Given the description of an element on the screen output the (x, y) to click on. 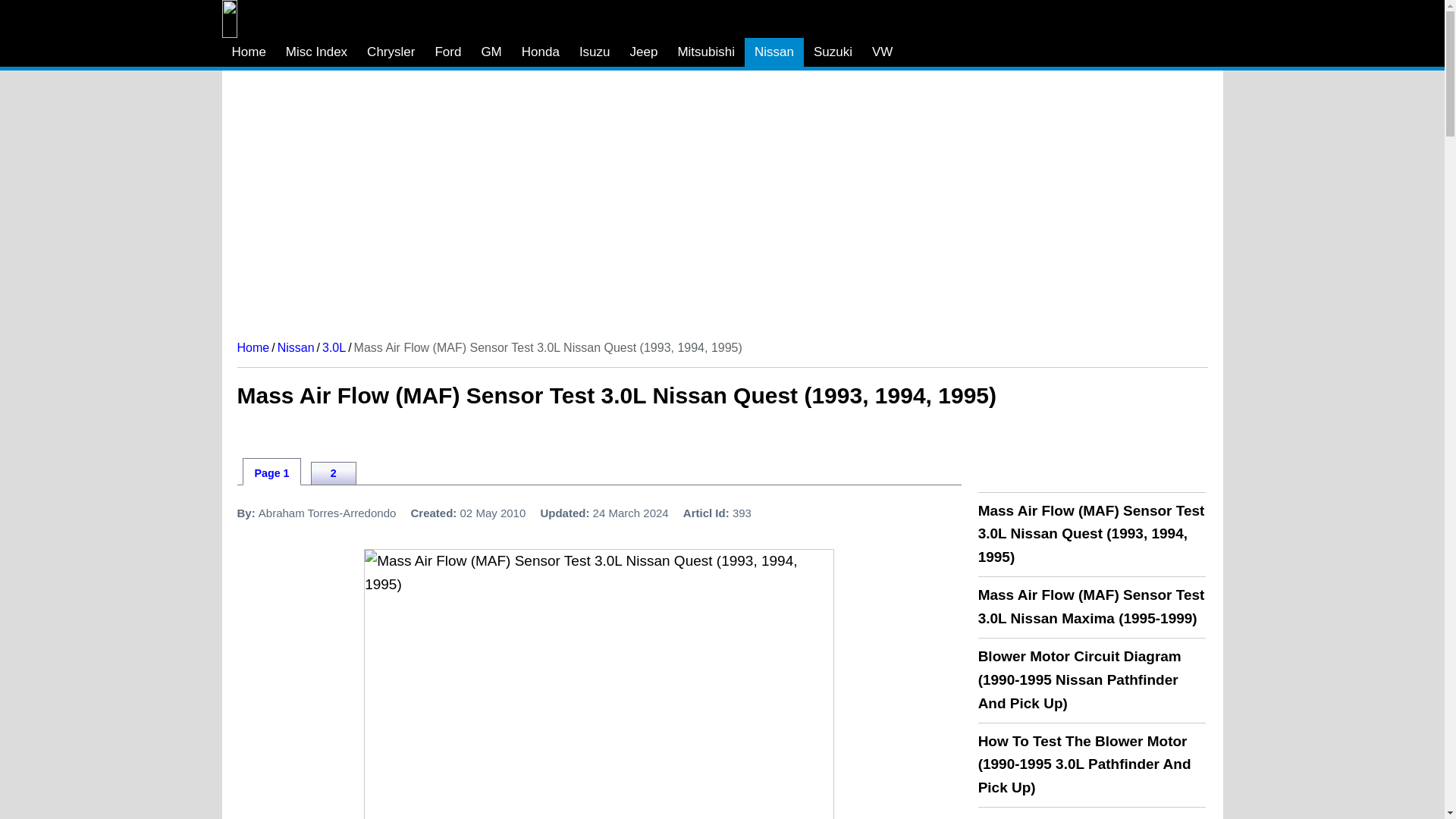
Home (248, 51)
Misc Index (316, 51)
Chrysler (390, 51)
Ford (447, 51)
GM (490, 51)
